Given the description of an element on the screen output the (x, y) to click on. 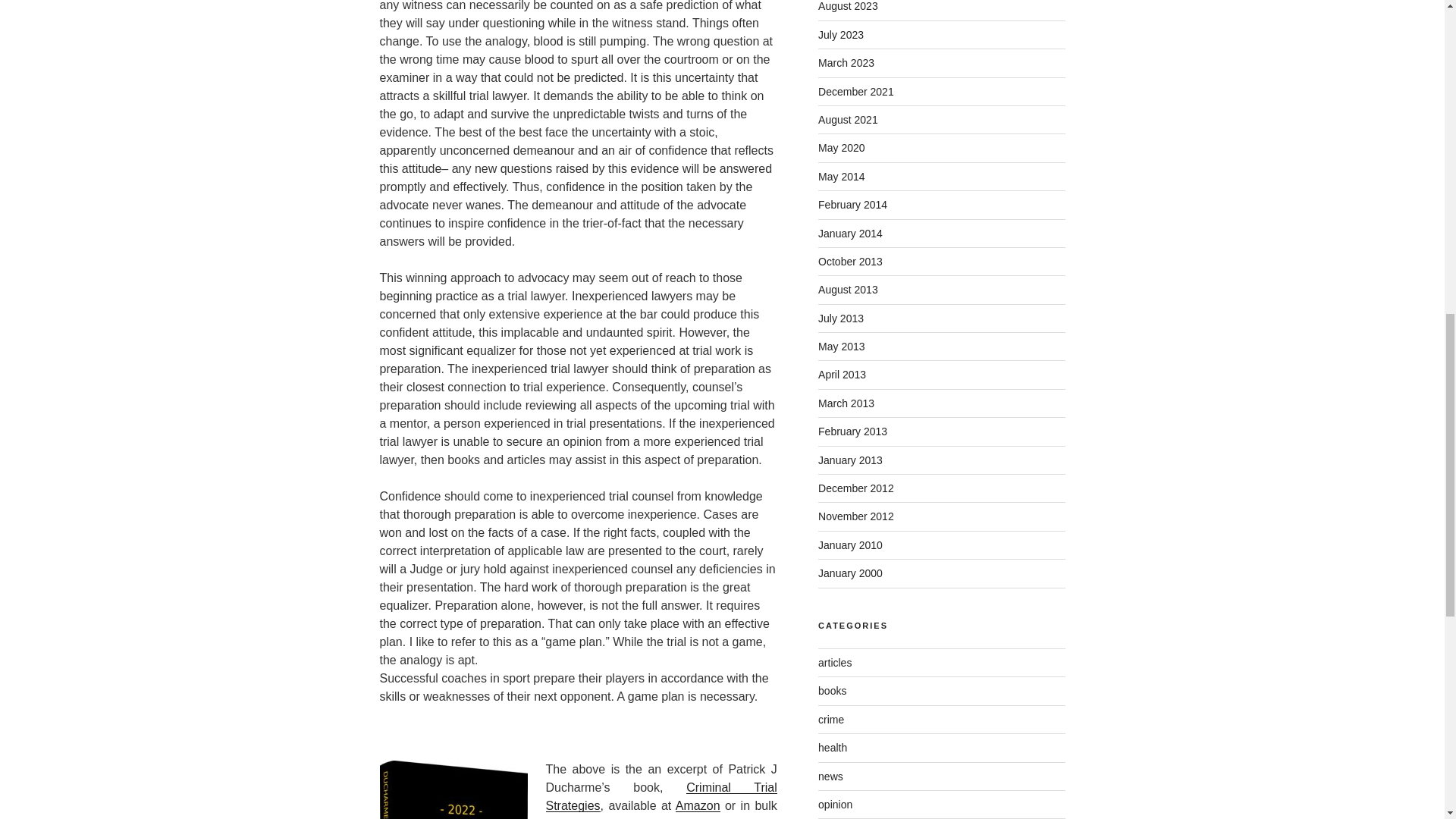
MedicaLegal Publishing (653, 818)
Criminal Trial Strategies (661, 796)
Amazon (697, 805)
